Given the description of an element on the screen output the (x, y) to click on. 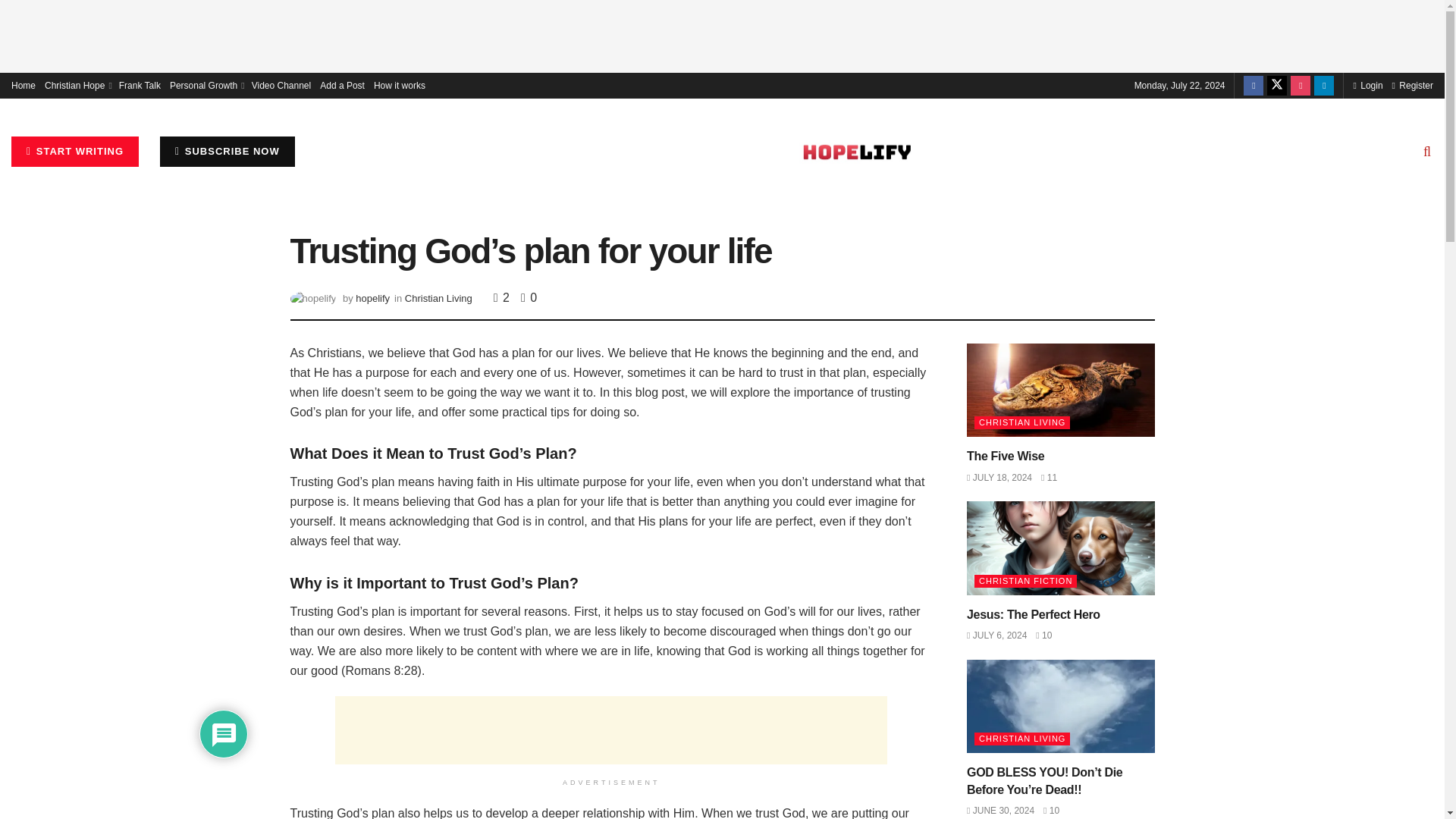
Register (1411, 85)
Video Channel (281, 85)
Personal Growth (206, 85)
Login (1366, 85)
Advertisement (610, 730)
Advertisement (722, 33)
Home (22, 85)
Add a Post (342, 85)
How it works (399, 85)
Christian Hope (77, 85)
Frank Talk (139, 85)
SUBSCRIBE NOW (227, 151)
START WRITING (74, 151)
